Given the description of an element on the screen output the (x, y) to click on. 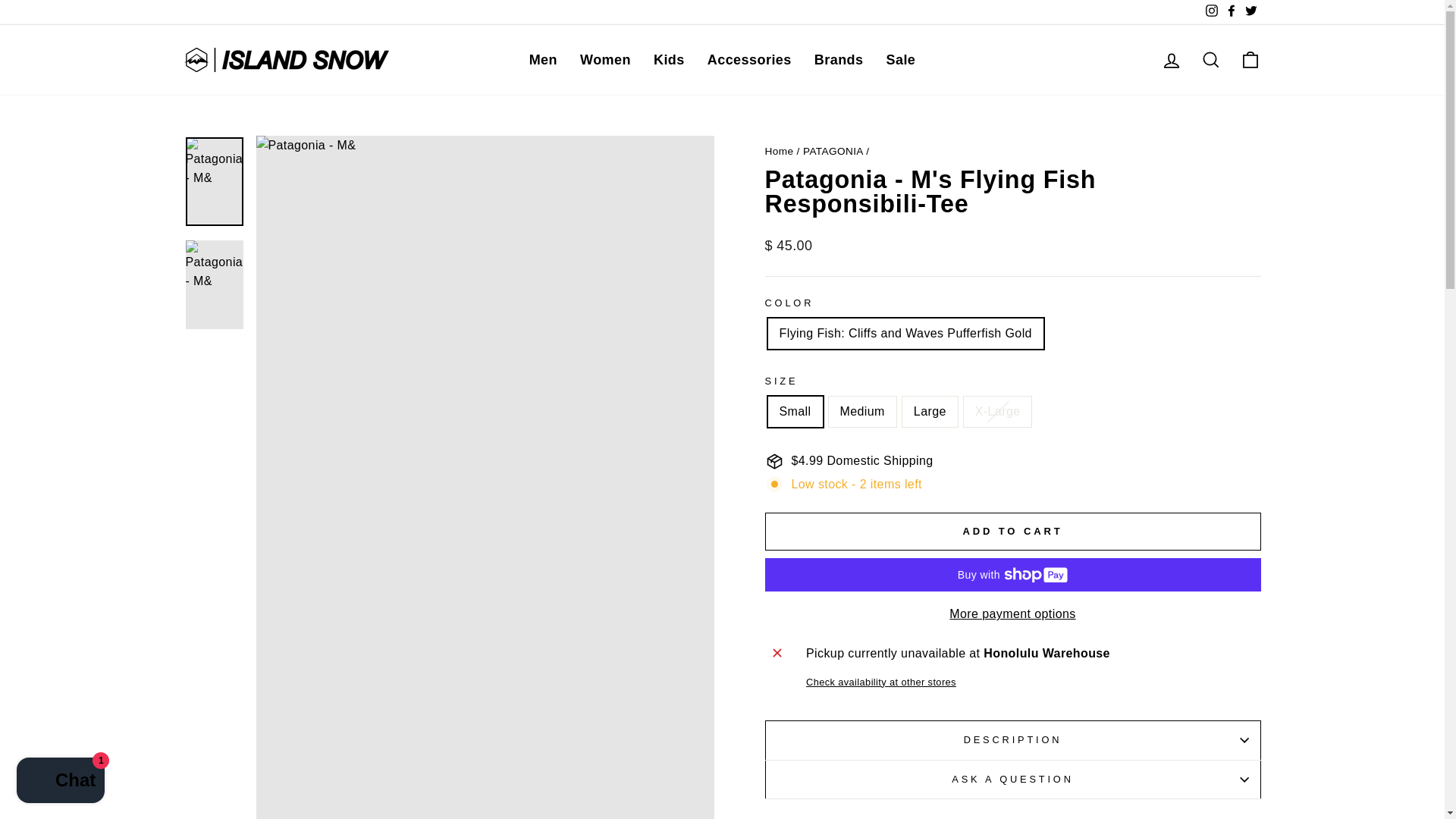
Shopify online store chat (60, 781)
Back to the frontpage (778, 151)
